Given the description of an element on the screen output the (x, y) to click on. 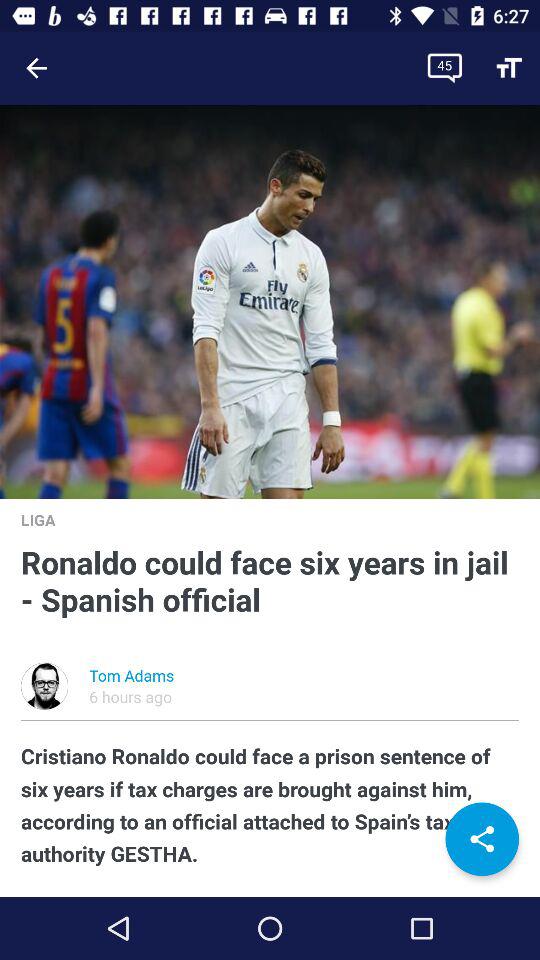
open image (270, 301)
